Given the description of an element on the screen output the (x, y) to click on. 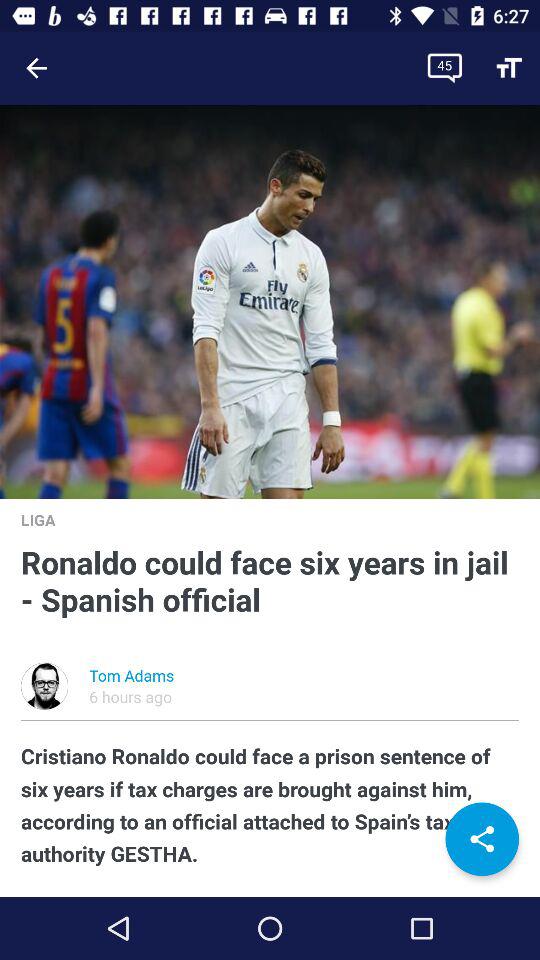
open image (270, 301)
